Given the description of an element on the screen output the (x, y) to click on. 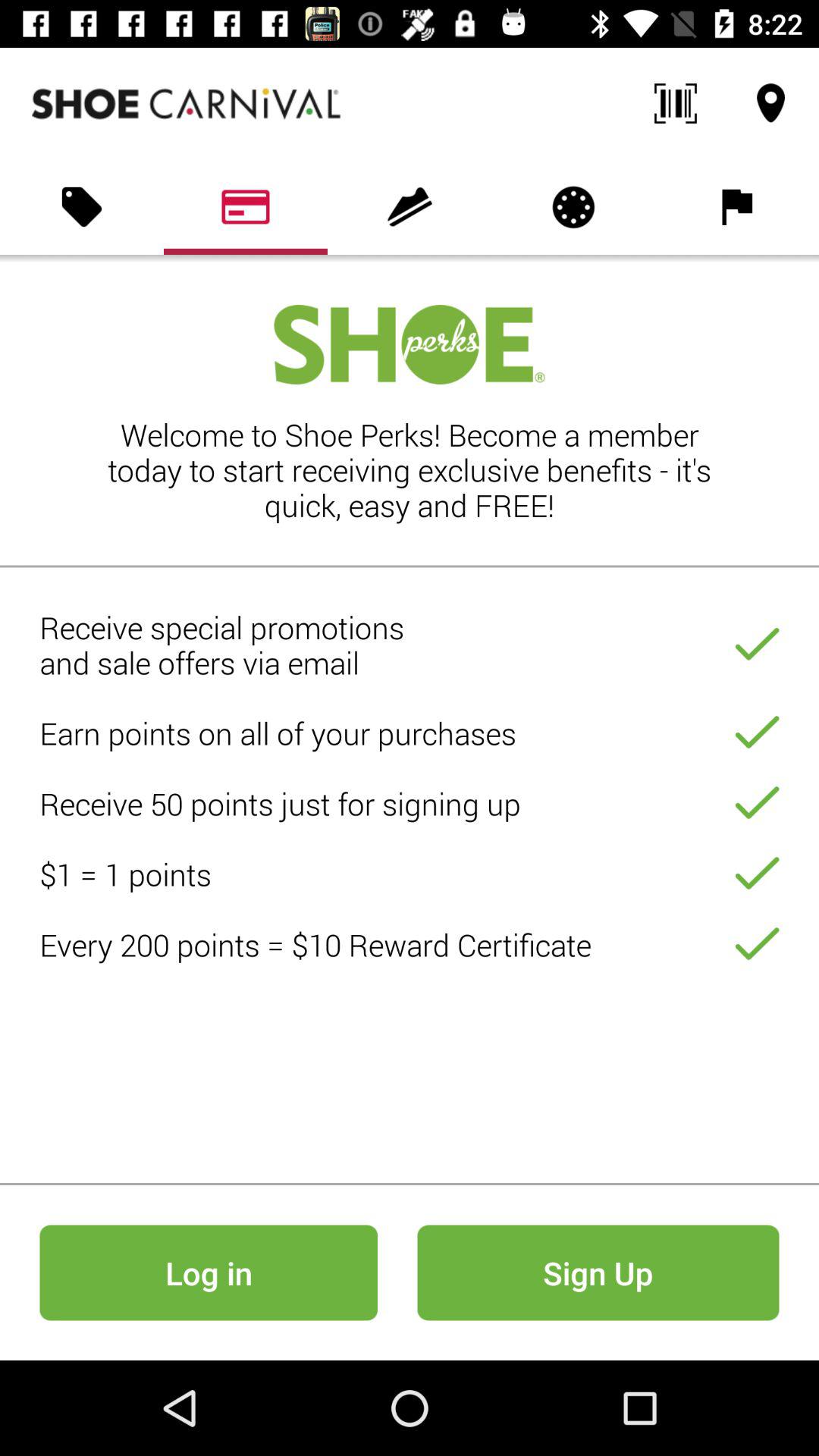
choose the log in at the bottom left corner (208, 1272)
